Given the description of an element on the screen output the (x, y) to click on. 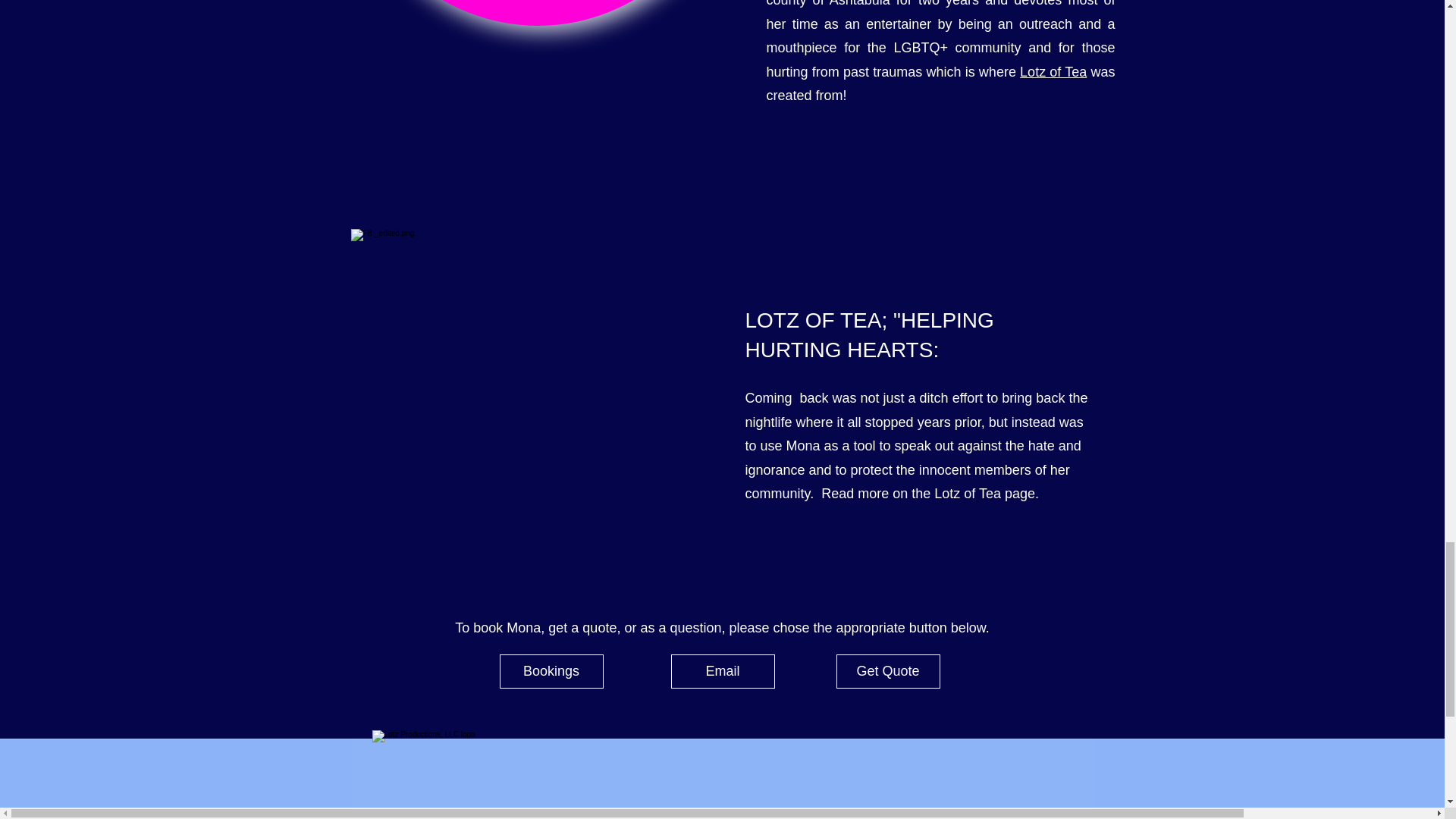
Bookings (550, 671)
Get Quote (887, 671)
LOGO4.png (482, 774)
LOTZ OF TEA; "HELPING HURTING HEARTS: (868, 334)
Lotz of Tea (1053, 71)
Email (721, 671)
